Given the description of an element on the screen output the (x, y) to click on. 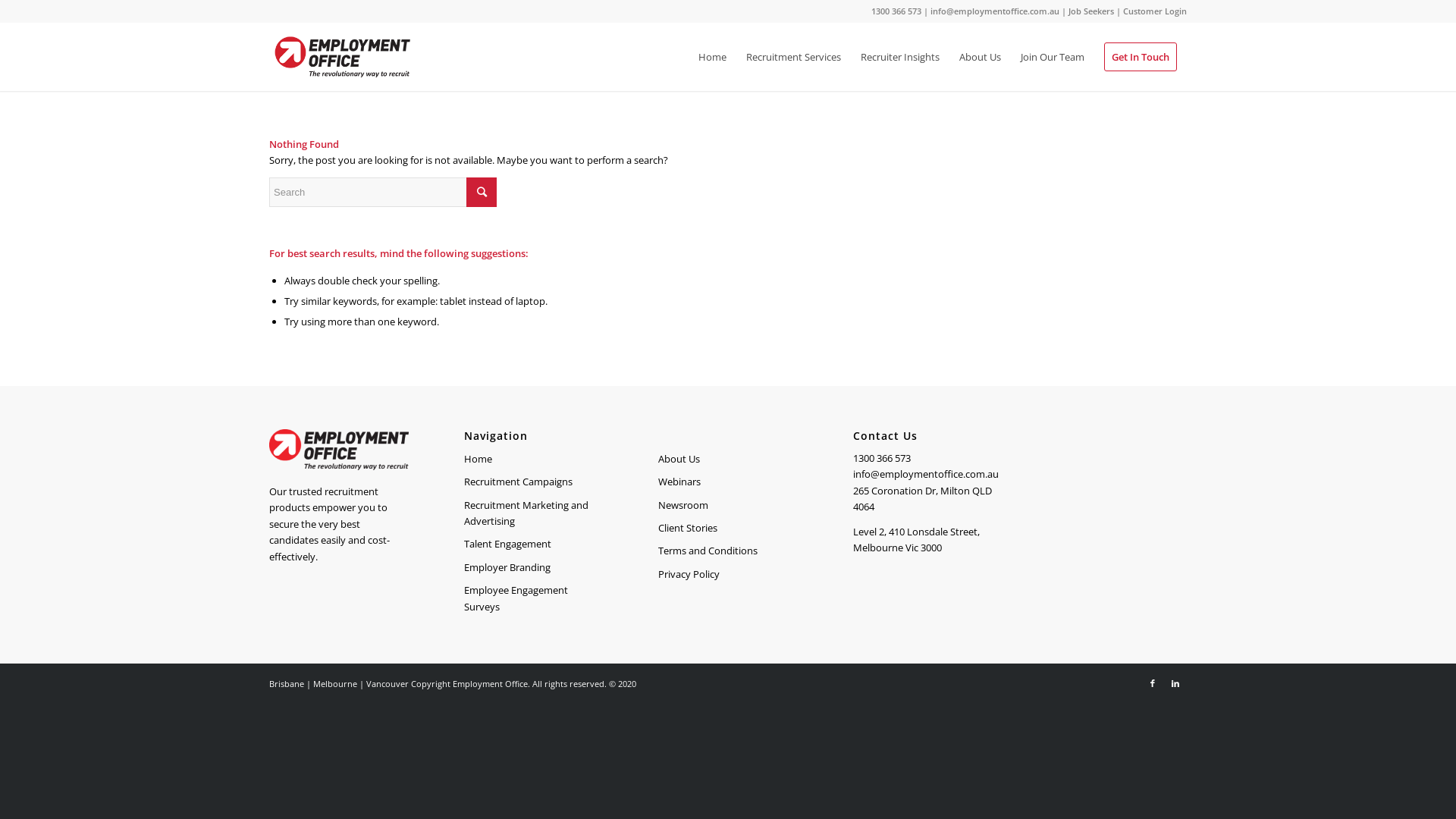
Customer Login Element type: text (1154, 10)
Join Our Team Element type: text (1052, 56)
Job Seekers Element type: text (1090, 10)
Get In Touch Element type: text (1140, 56)
Facebook Element type: hover (1152, 682)
Webinars Element type: text (727, 481)
Recruitment Services Element type: text (793, 56)
Terms and Conditions Element type: text (727, 550)
Recruitment Campaigns Element type: text (533, 481)
Recruiter Insights Element type: text (899, 56)
Home Element type: text (712, 56)
Employer Branding Element type: text (533, 567)
1300 366 573 Element type: text (896, 10)
Newsroom Element type: text (727, 505)
Home Element type: text (533, 459)
Recruitment Marketing and Advertising Element type: text (533, 513)
About Us Element type: text (727, 459)
info@employmentoffice.com.au Element type: text (994, 10)
Client Stories Element type: text (727, 528)
Privacy Policy Element type: text (727, 574)
Employee Engagement Surveys Element type: text (533, 598)
About Us Element type: text (979, 56)
LinkedIn Element type: hover (1175, 682)
Talent Engagement Element type: text (533, 544)
